Given the description of an element on the screen output the (x, y) to click on. 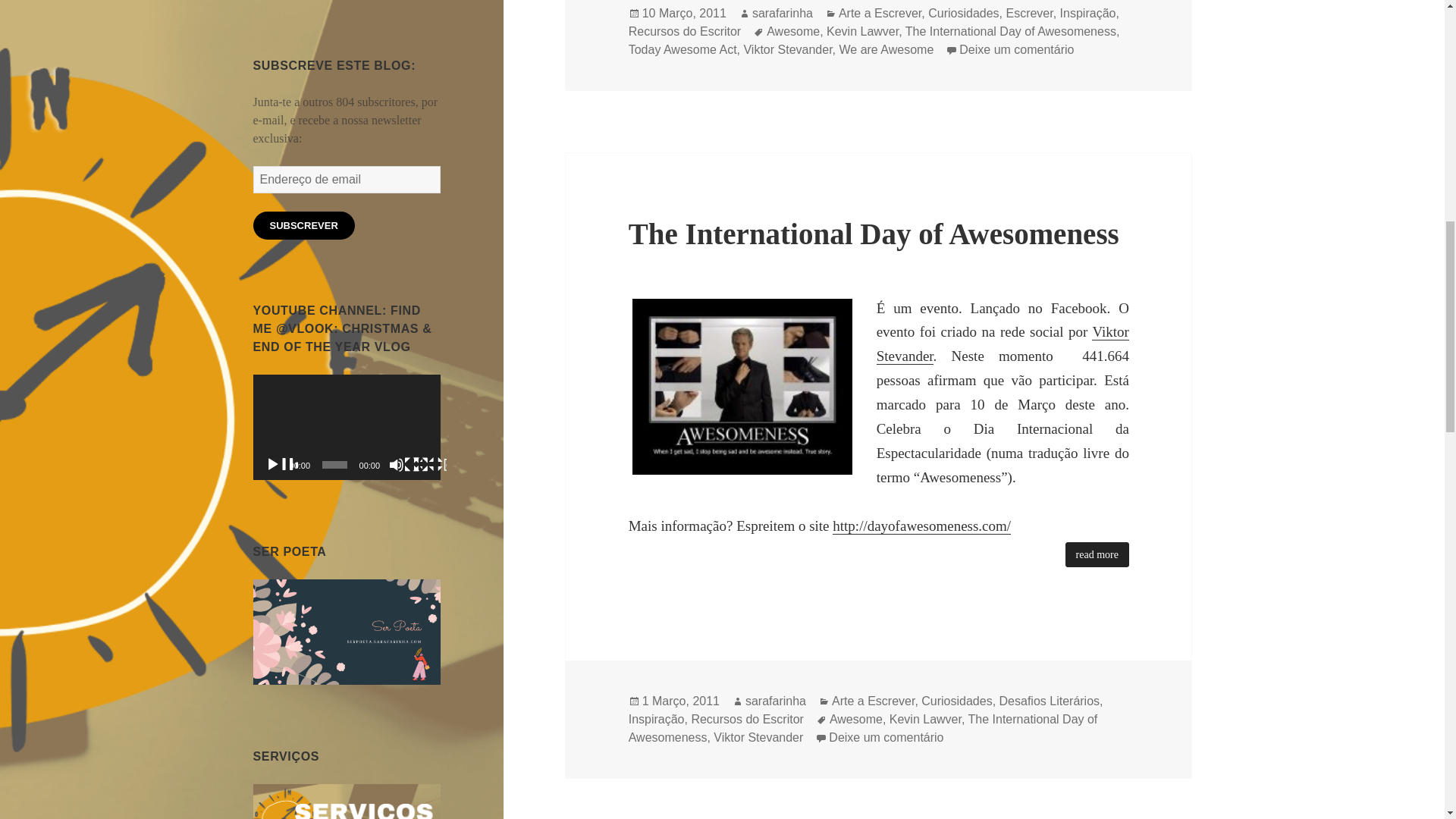
International Day of Awesomeness (741, 386)
Reproduzir (281, 465)
sarafarinha (782, 13)
Mudo (405, 465)
SUBSCREVER (304, 225)
Ser Poeta (347, 630)
